Given the description of an element on the screen output the (x, y) to click on. 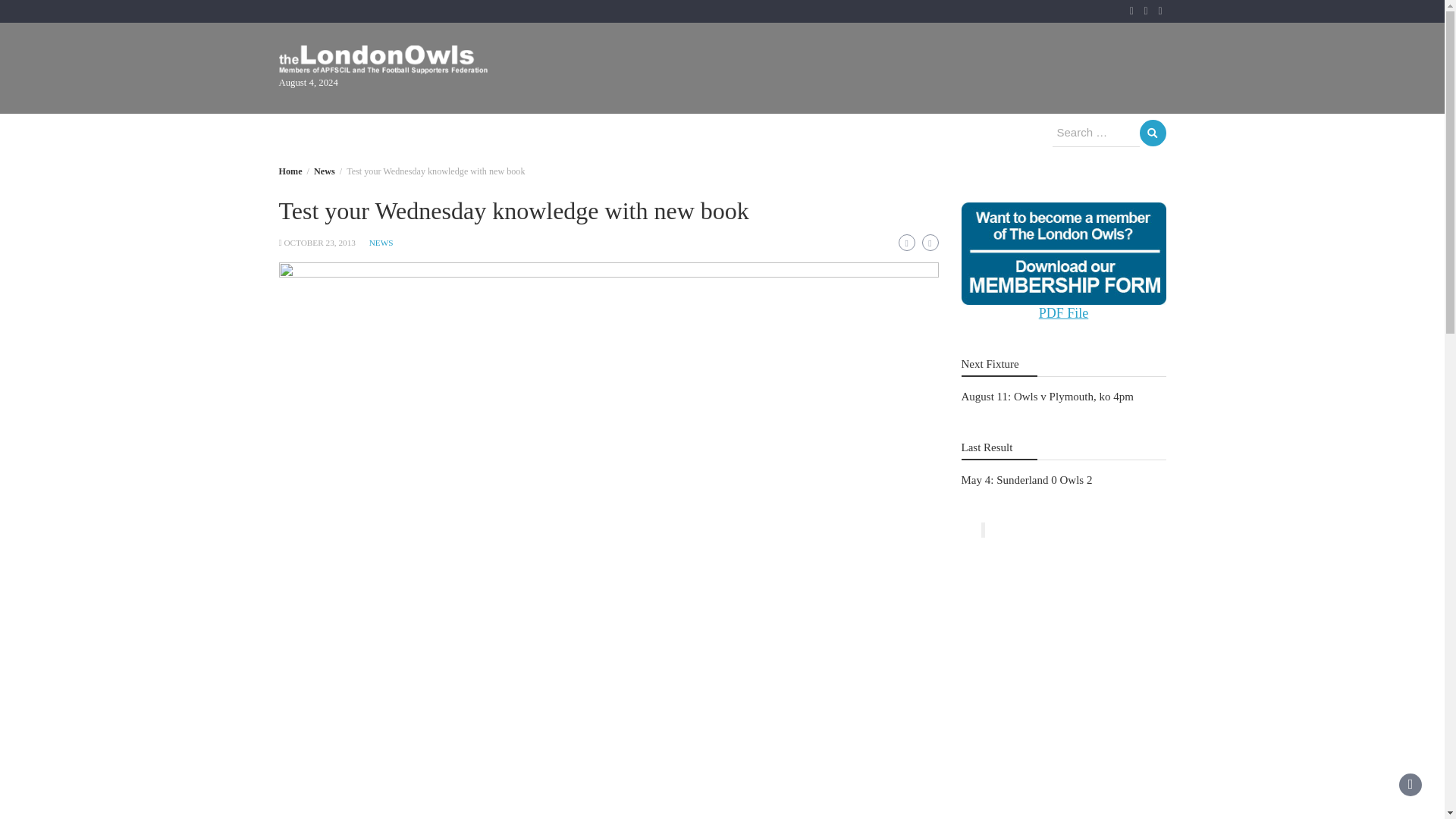
OCTOBER 23, 2013 (319, 242)
Social (758, 133)
Gallery (460, 133)
Newsletter (538, 133)
About Us (384, 133)
Search (1152, 132)
Home (290, 171)
News (324, 171)
PDF File (1064, 313)
NEWS (381, 242)
Home (311, 133)
Search (1152, 132)
Our Players of the Year (653, 133)
Search (1152, 132)
Search for: (1096, 133)
